Given the description of an element on the screen output the (x, y) to click on. 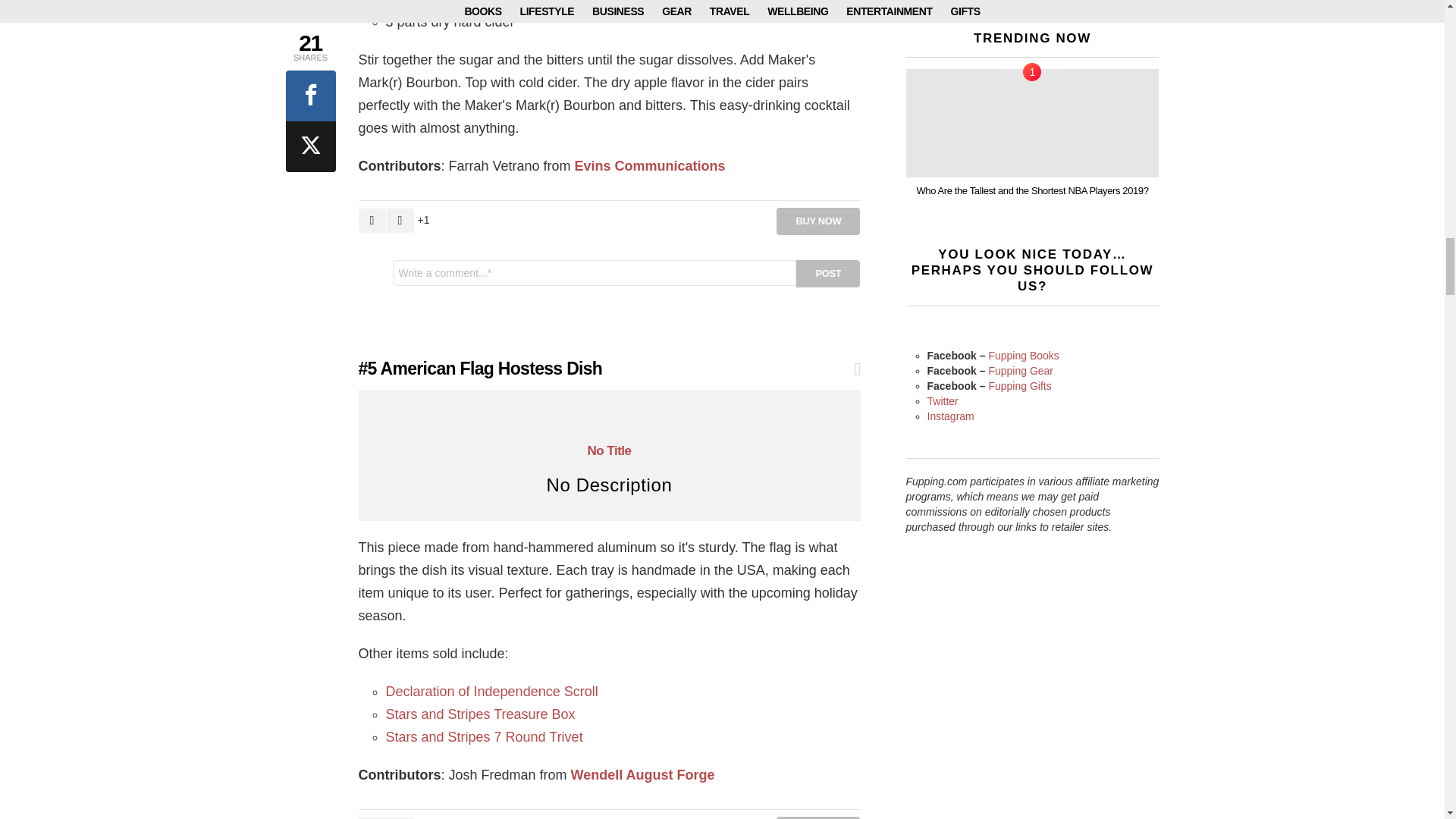
Post (828, 273)
